Given the description of an element on the screen output the (x, y) to click on. 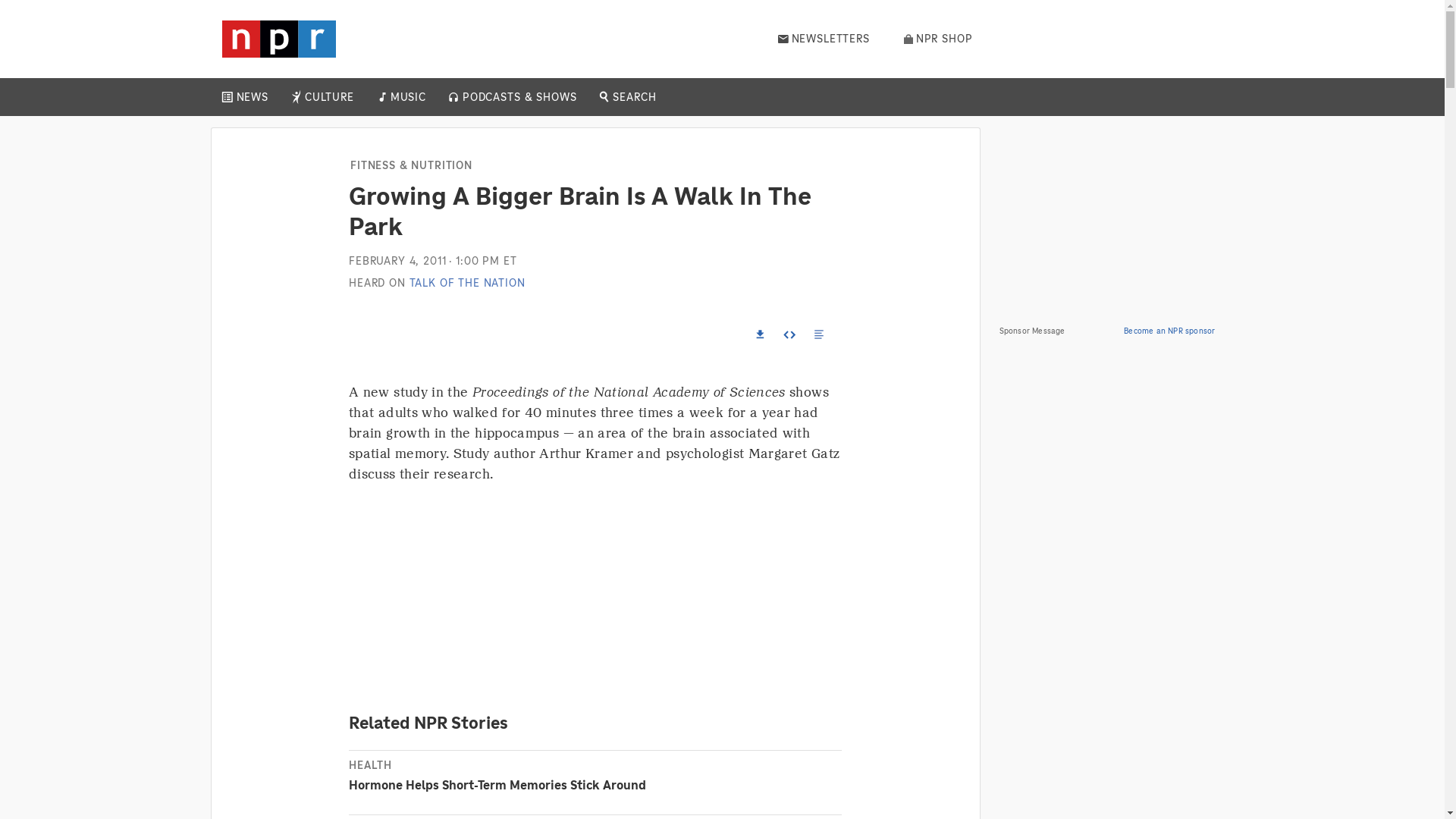
MUSIC (407, 96)
CULTURE (328, 96)
NEWSLETTERS (823, 38)
NPR SHOP (938, 38)
NEWS (251, 96)
